Given the description of an element on the screen output the (x, y) to click on. 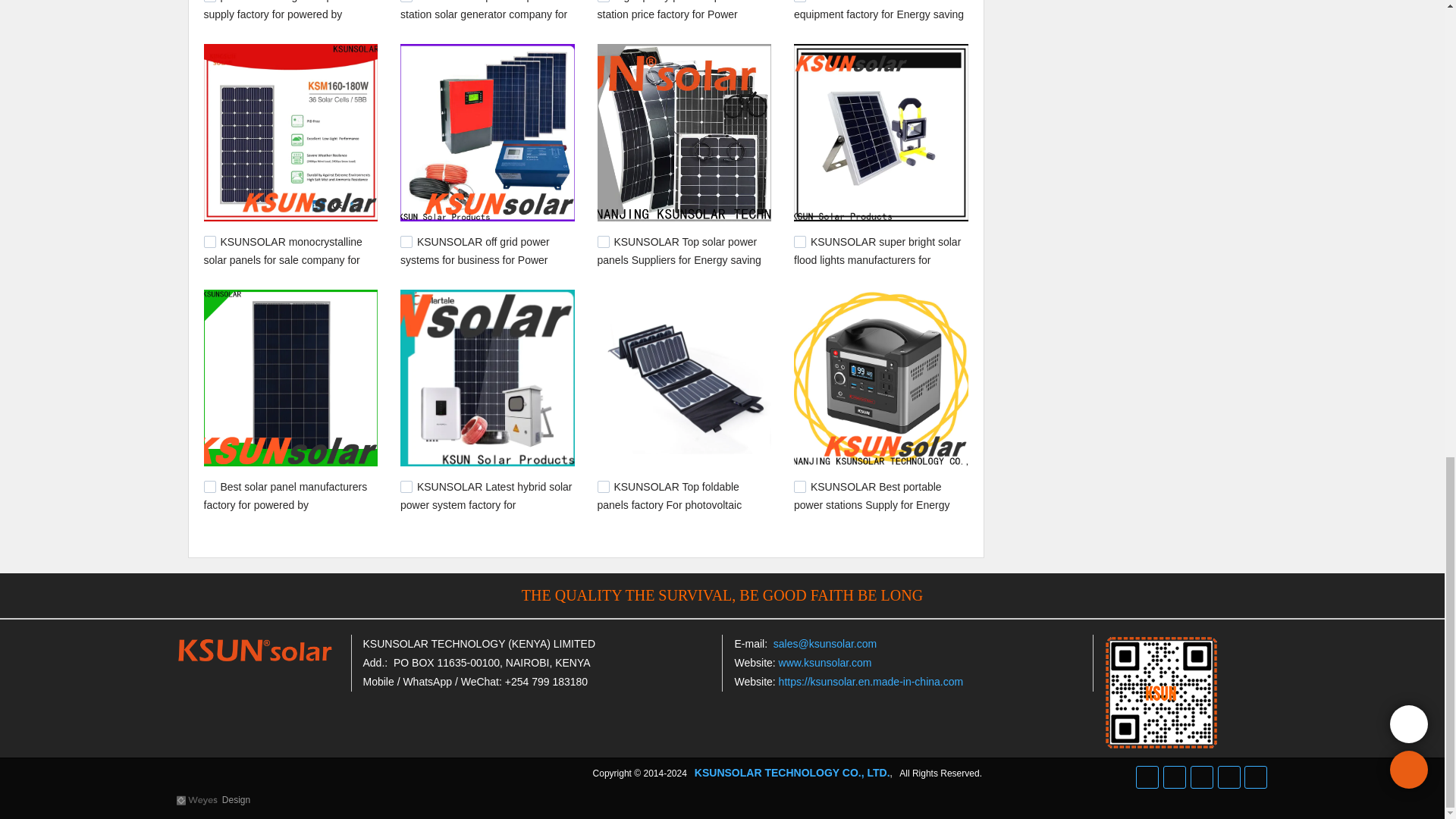
Best solar panel manufacturers factory for powered by (284, 495)
3574 (603, 241)
portable rechargeable power supply factory for powered by (279, 10)
KSUNSOLAR Latest solar equipment factory for Energy saving (878, 10)
3579 (406, 241)
3638 (209, 241)
KSUNSOLAR Latest solar equipment factory for Energy saving (878, 10)
3479 (406, 486)
